Given the description of an element on the screen output the (x, y) to click on. 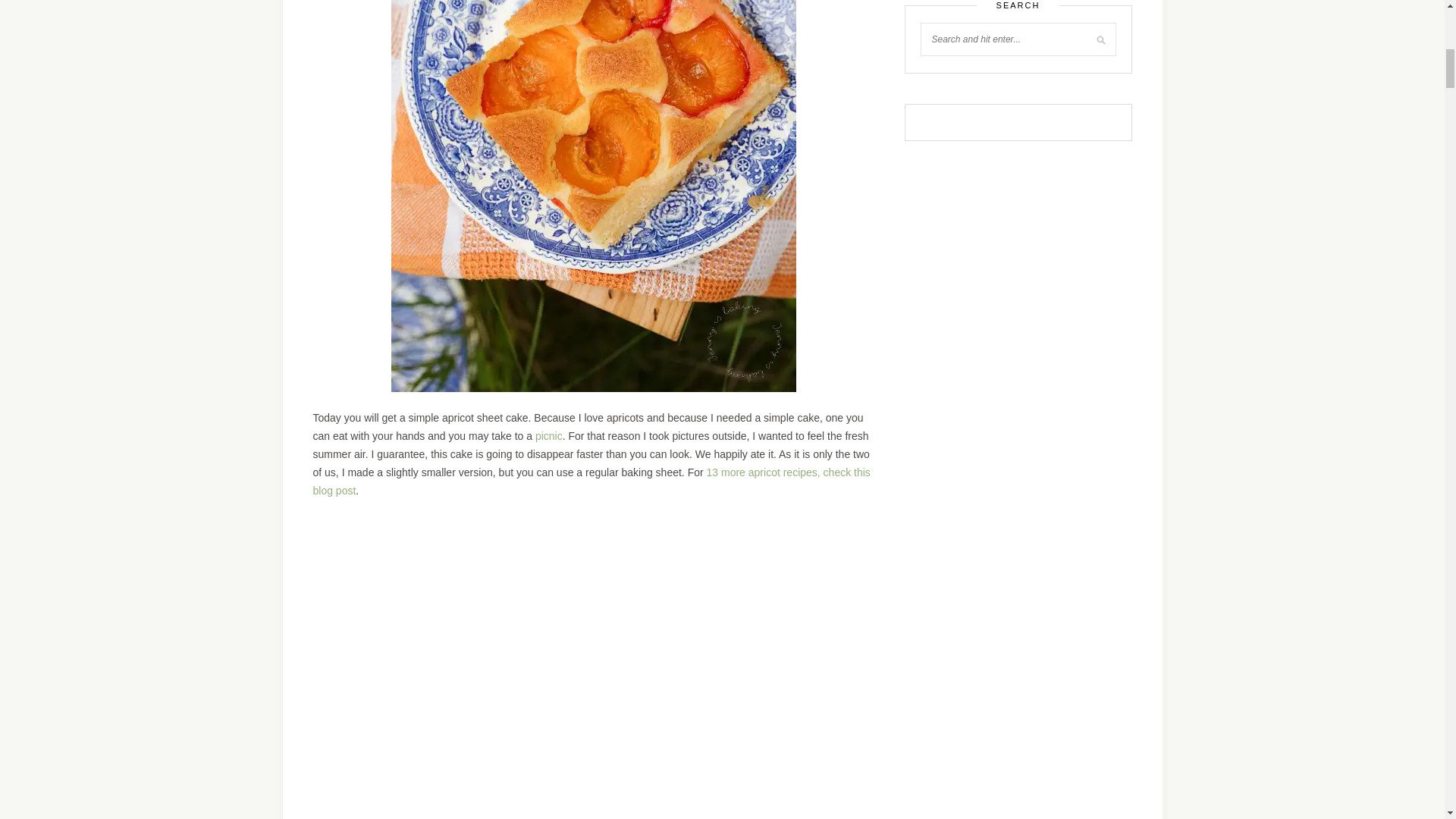
picnic (548, 435)
